Given the description of an element on the screen output the (x, y) to click on. 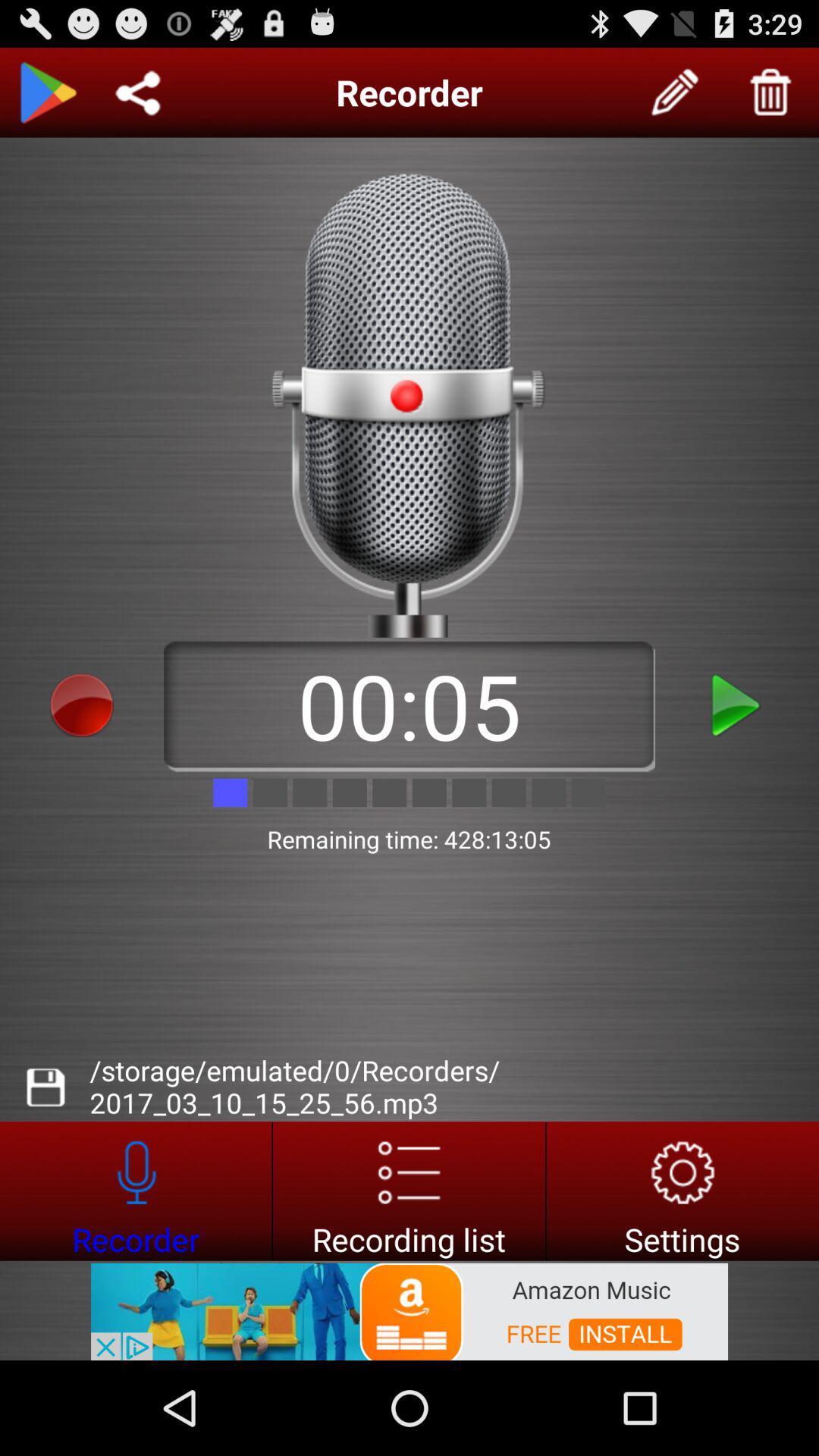
open settings (682, 1190)
